Given the description of an element on the screen output the (x, y) to click on. 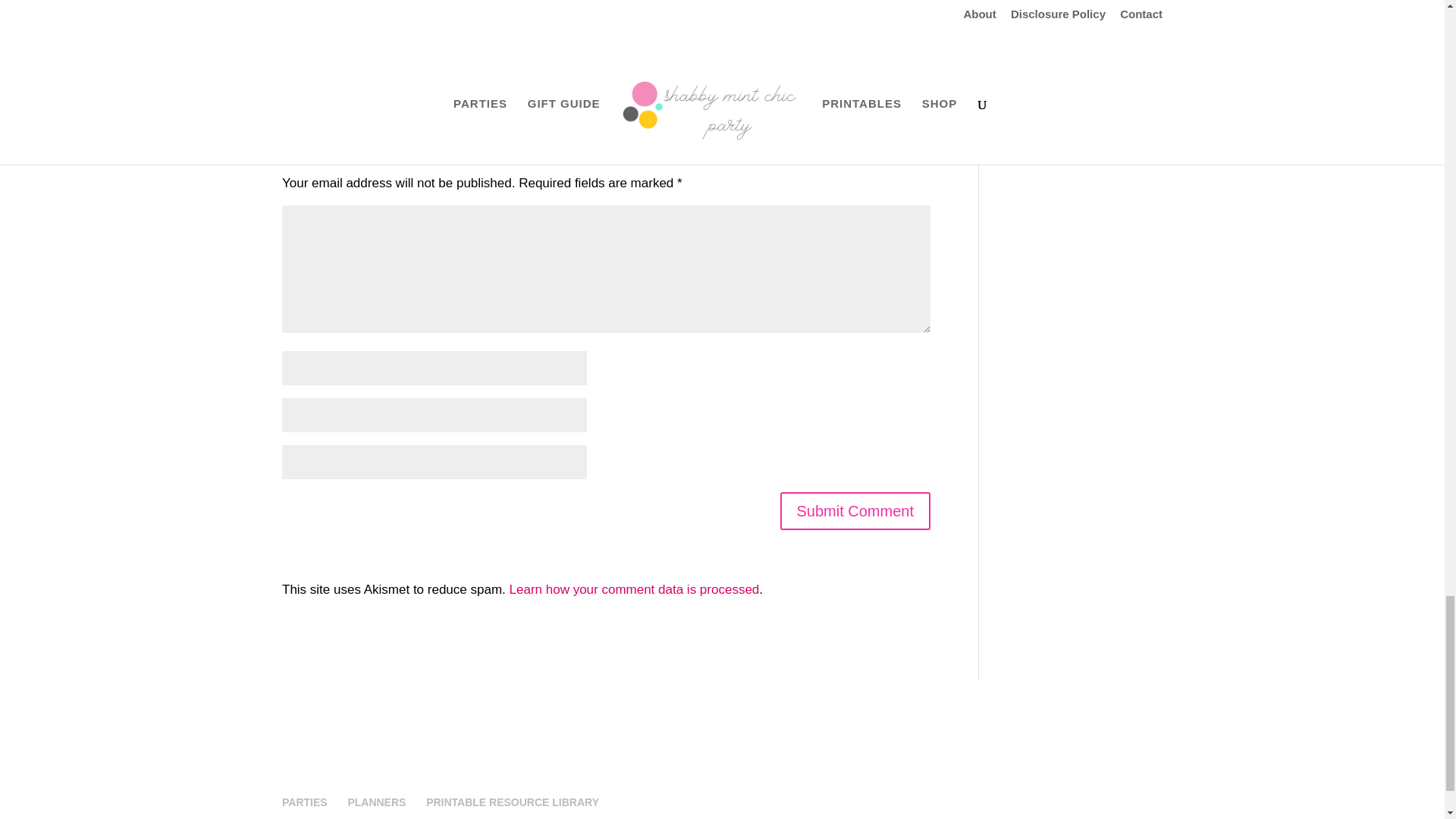
Load more posts (577, 44)
Submit Comment (854, 510)
Submit Comment (854, 510)
